Given the description of an element on the screen output the (x, y) to click on. 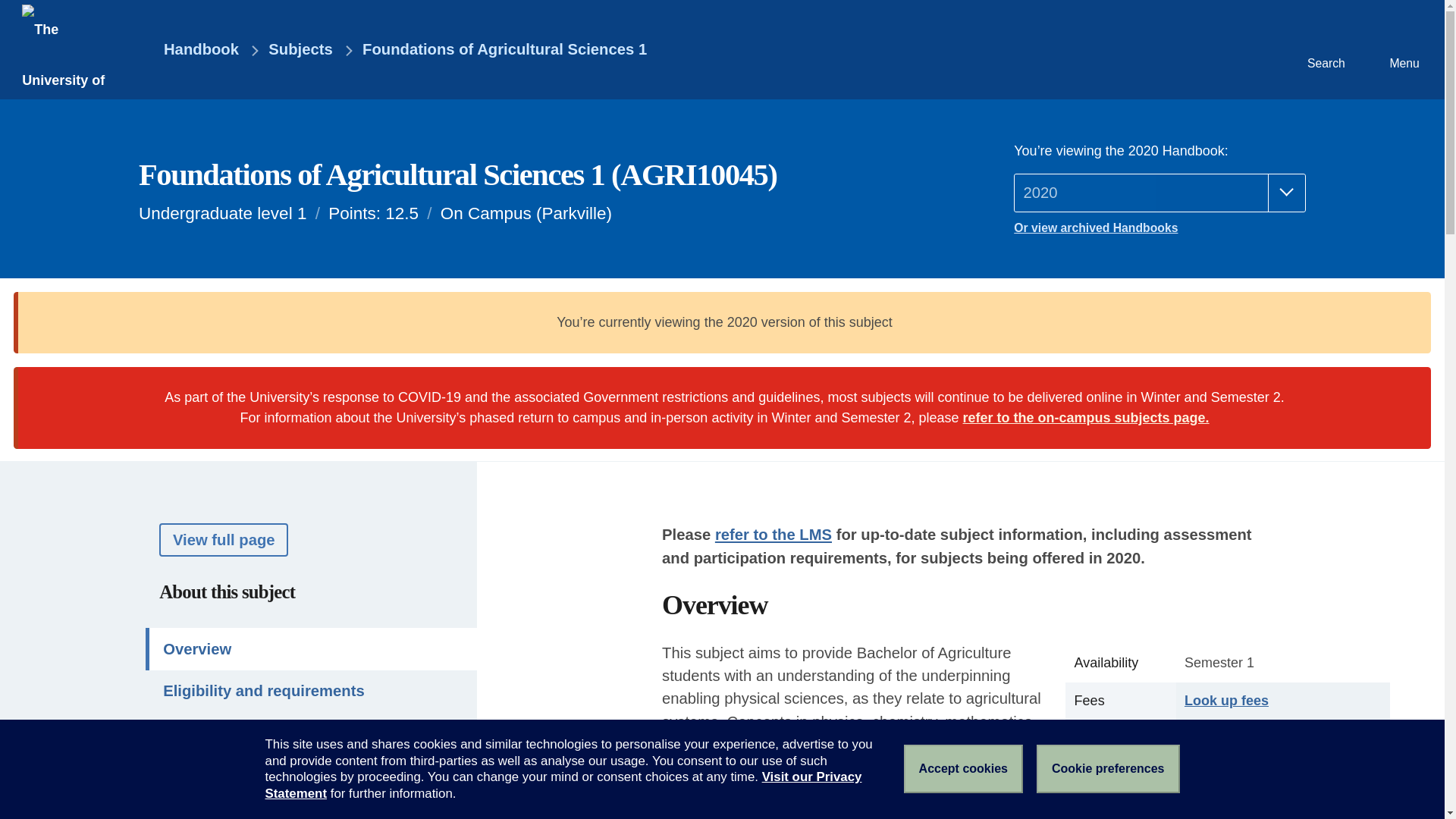
Dates and times (311, 774)
Or view archived Handbooks (1159, 228)
Eligibility and requirements (311, 690)
Look up fees (1226, 700)
Subjects (299, 49)
Search (1324, 49)
Search (1324, 49)
Handbook (189, 49)
refer to the on-campus subjects page. (1085, 417)
Further information (311, 807)
